Given the description of an element on the screen output the (x, y) to click on. 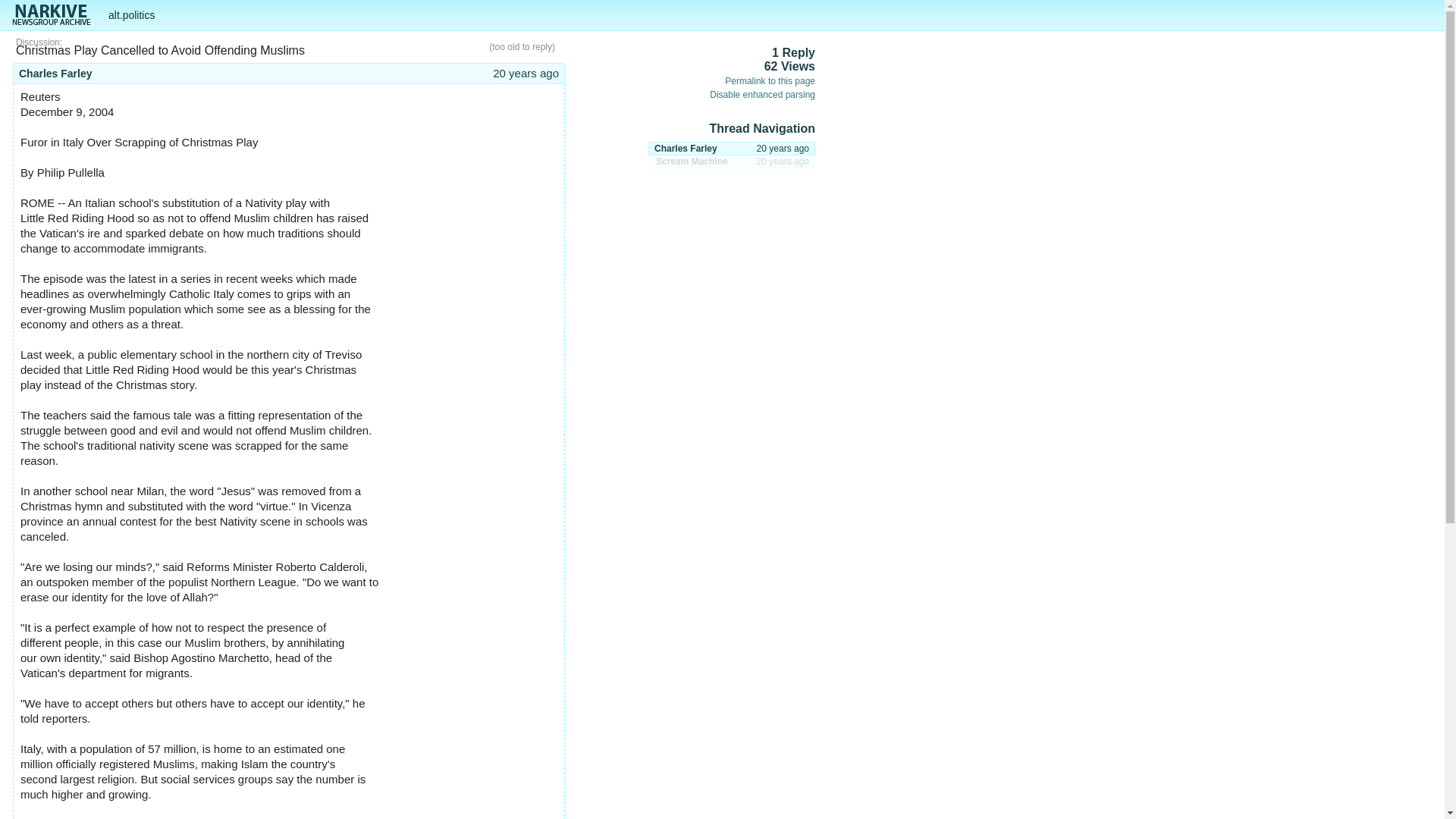
alt.politics (130, 15)
2004-12-11 01:18:07 UTC (732, 161)
Disable enhanced parsing (731, 148)
2004-12-11 01:18:07 UTC (526, 72)
2004-12-11 12:50:19 UTC (762, 94)
Permalink to this page (783, 148)
